Given the description of an element on the screen output the (x, y) to click on. 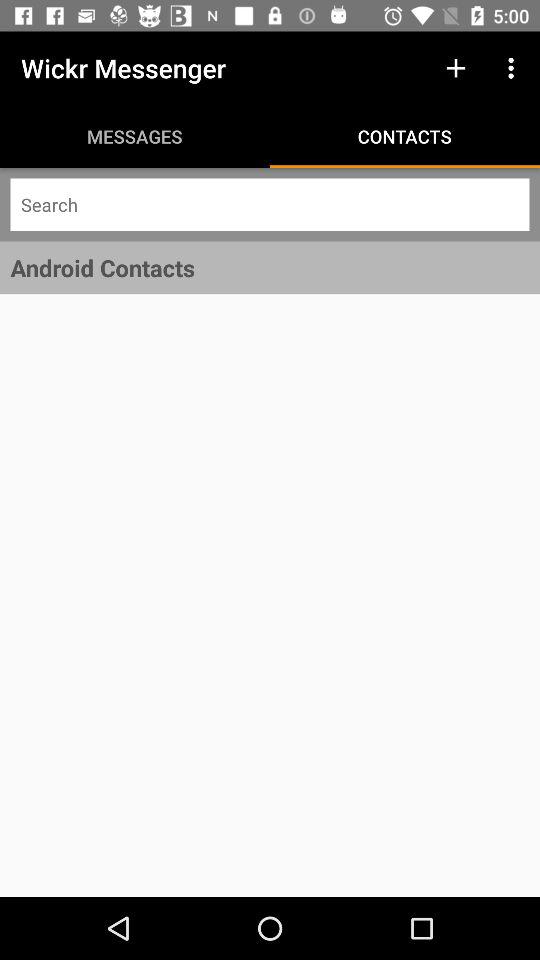
turn off android contacts item (270, 267)
